Given the description of an element on the screen output the (x, y) to click on. 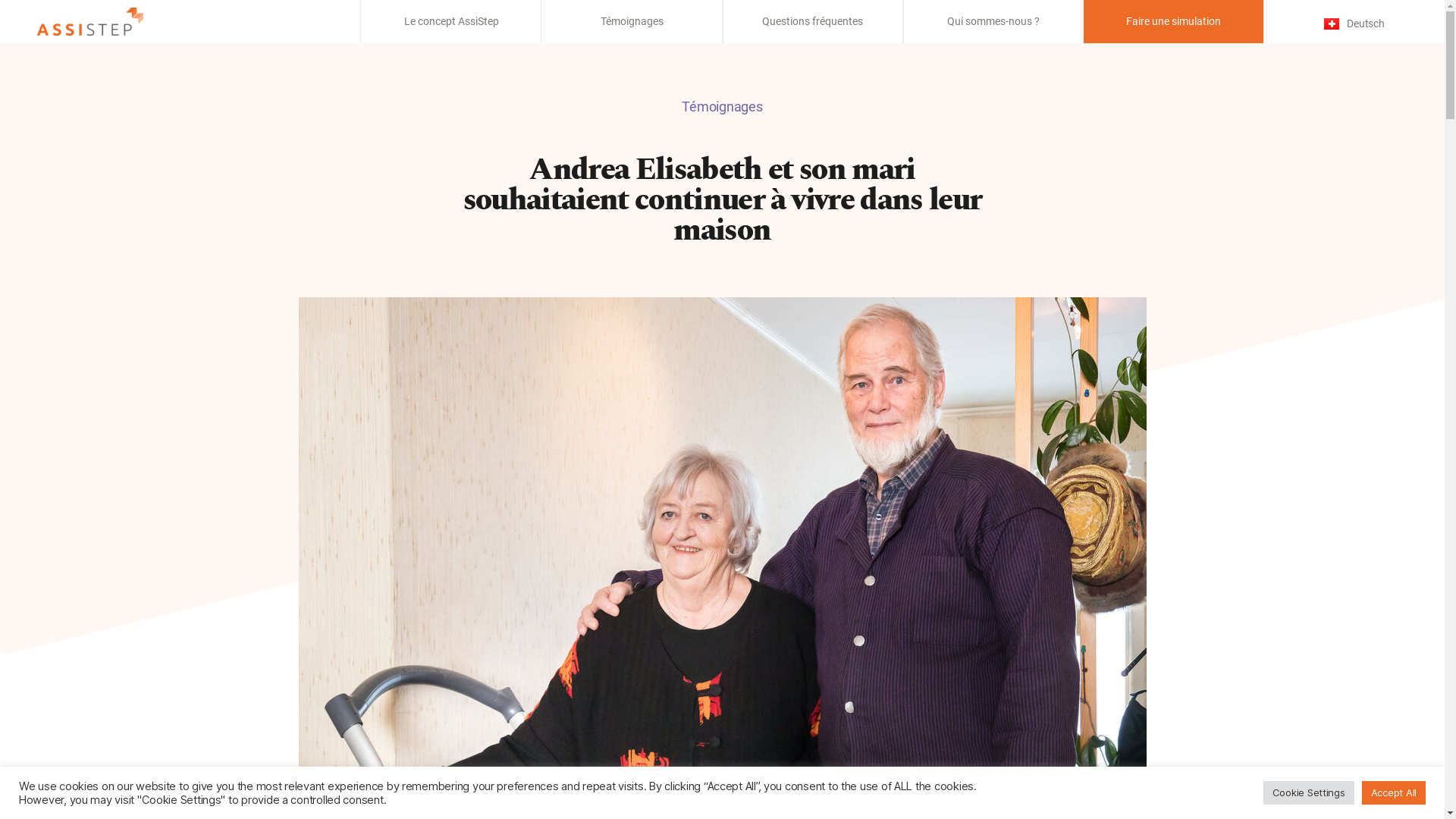
Deutsch Element type: text (1353, 23)
AssiStep-MAIN-logo-e1614081264826.png Element type: hover (90, 21)
Qui sommes-nous ? Element type: text (993, 21)
Le concept AssiStep Element type: text (451, 21)
Accept All Element type: text (1393, 792)
Faire une simulation Element type: text (1173, 21)
Cookie Settings Element type: text (1308, 792)
